Given the description of an element on the screen output the (x, y) to click on. 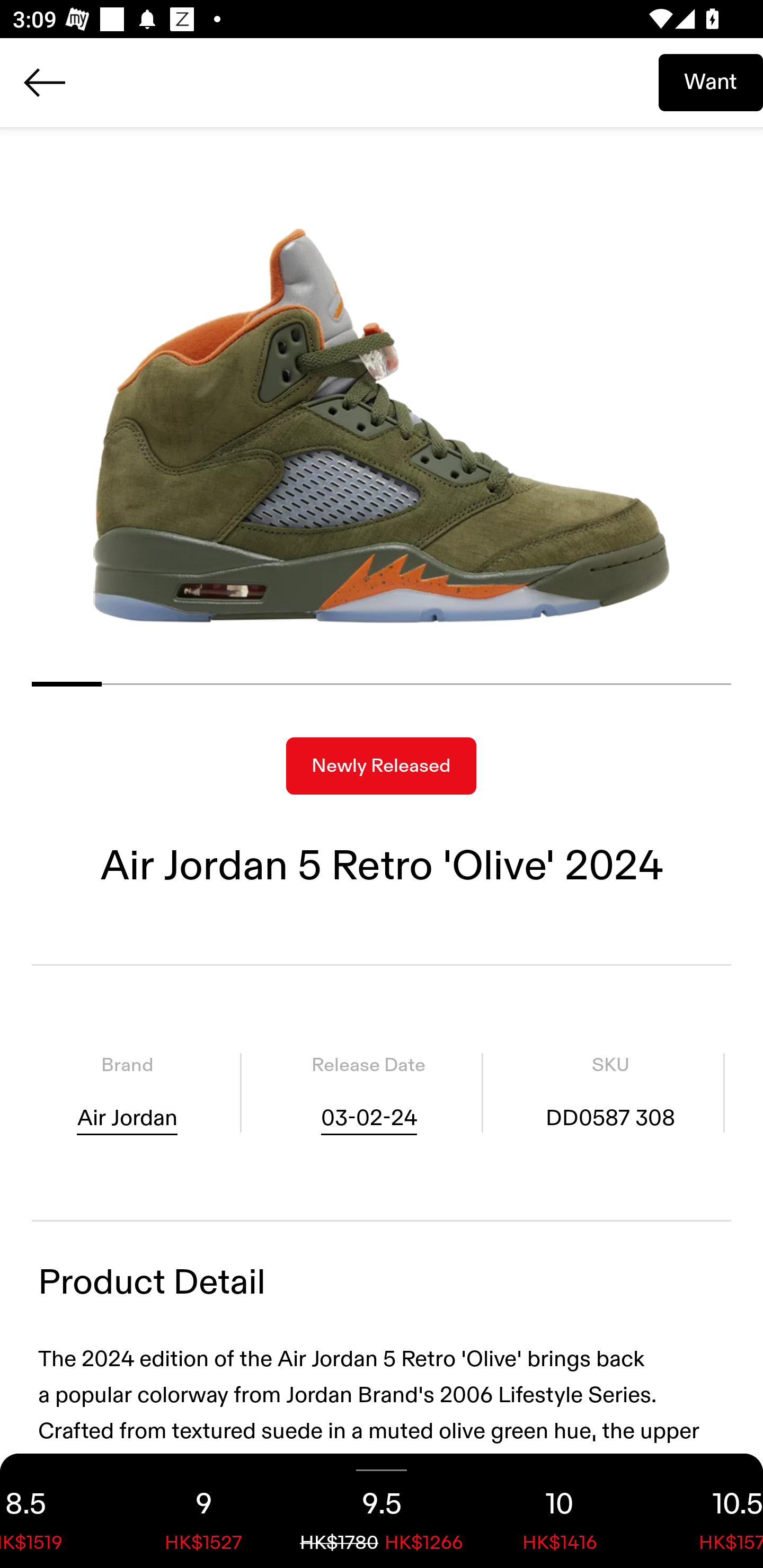
Want (710, 82)
Newly Released (381, 765)
Brand Air Jordan (126, 1092)
Release Date 03-02-24 (368, 1092)
SKU DD0587 308 (609, 1092)
8.5 HK$1519 (57, 1510)
9 HK$1527 (203, 1510)
9.5 HK$1780 HK$1266 (381, 1510)
10 HK$1416 (559, 1510)
10.5 HK$1574 (705, 1510)
